Given the description of an element on the screen output the (x, y) to click on. 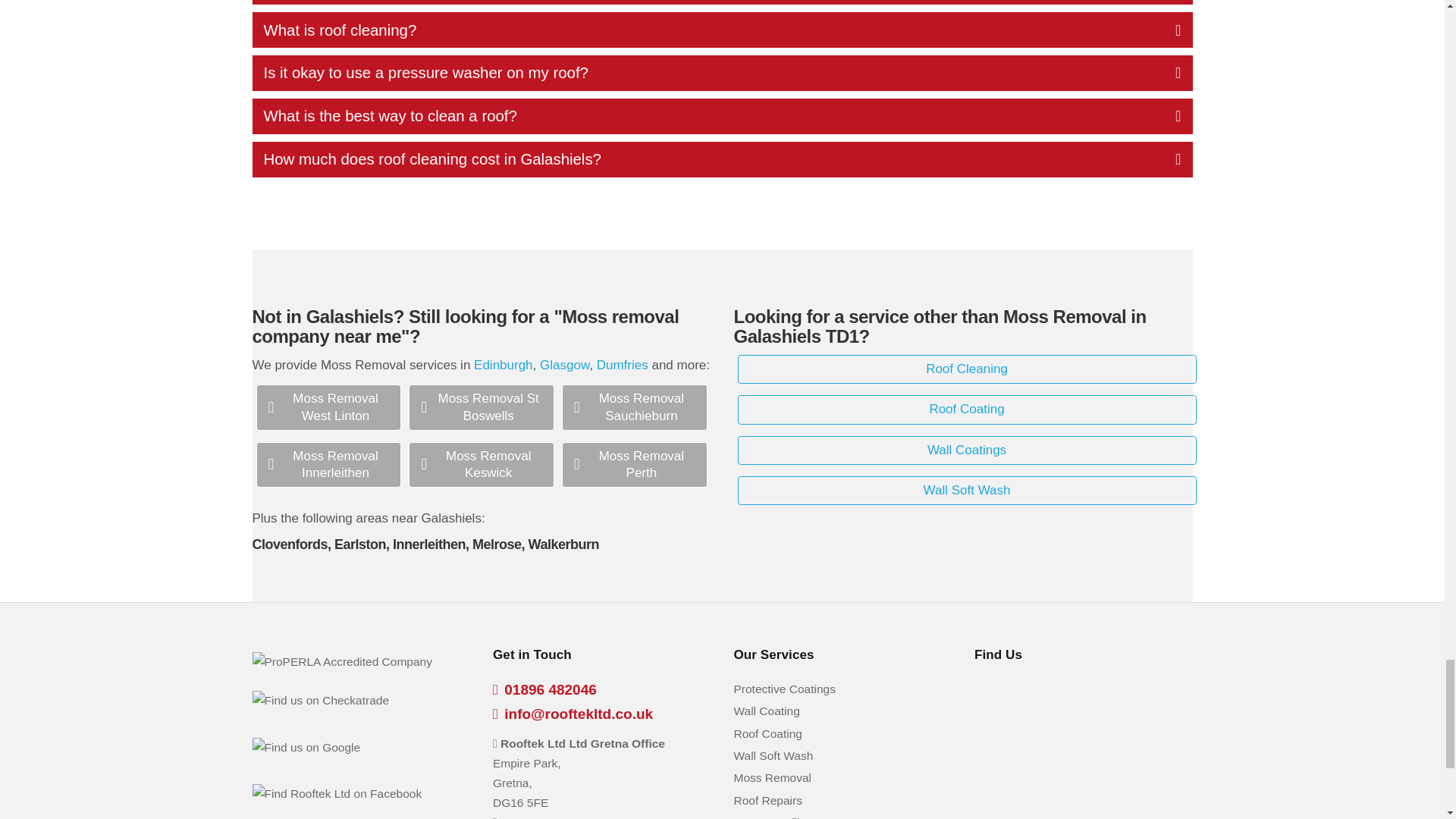
Find us on Google (305, 747)
ProPERLA Accredited Company (340, 661)
Find us on Checkatrade (319, 700)
